Given the description of an element on the screen output the (x, y) to click on. 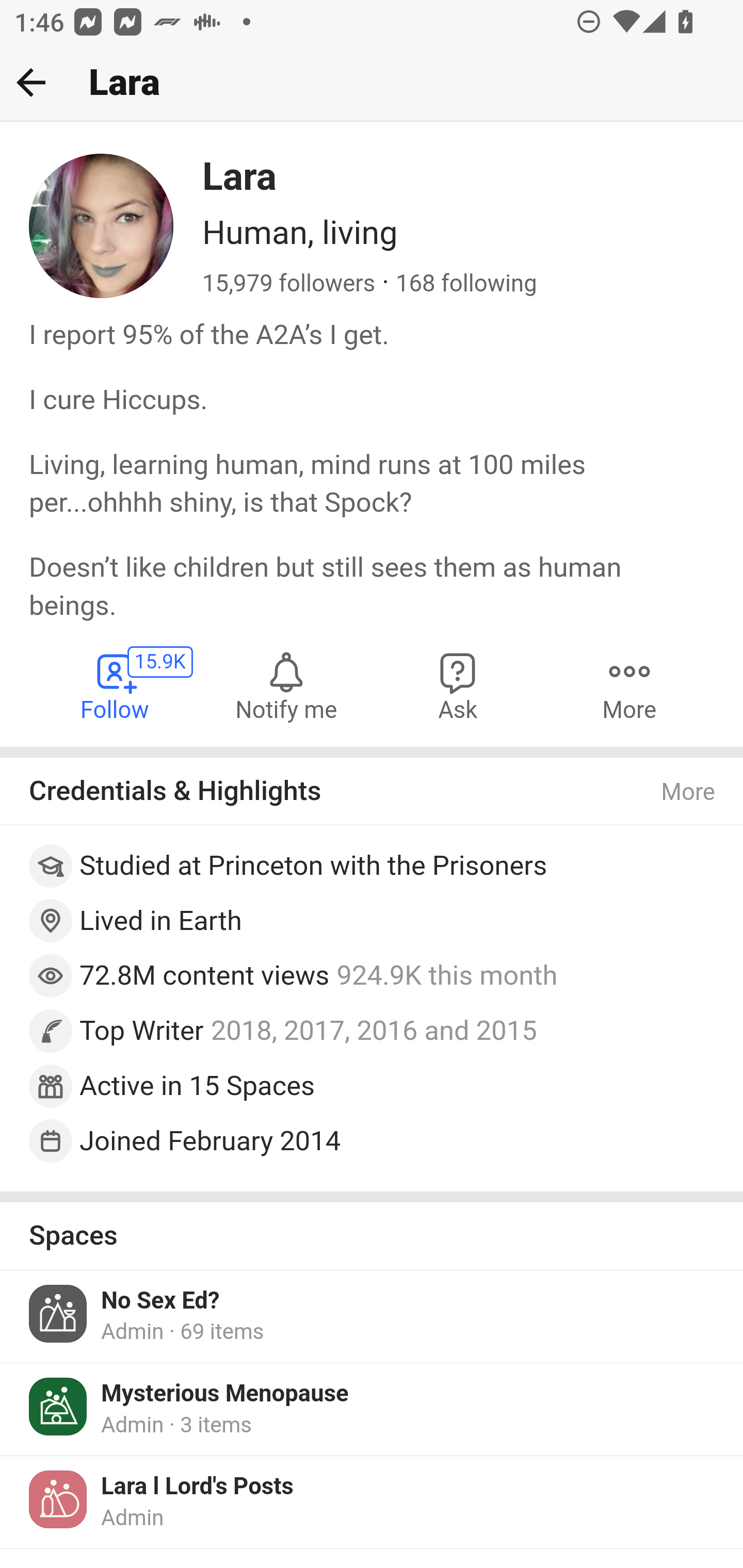
Back (30, 82)
15,979 followers (289, 284)
168 following (465, 284)
Follow Lara 15.9K Follow (115, 685)
Notify me (285, 685)
Ask (458, 685)
More (628, 685)
More (688, 791)
Icon for No Sex Ed? (58, 1313)
No Sex Ed? (160, 1301)
Icon for Mysterious Menopause (58, 1406)
Mysterious Menopause (225, 1394)
Icon for Lara l Lord's Posts (58, 1500)
Lara l Lord's Posts (197, 1487)
